Given the description of an element on the screen output the (x, y) to click on. 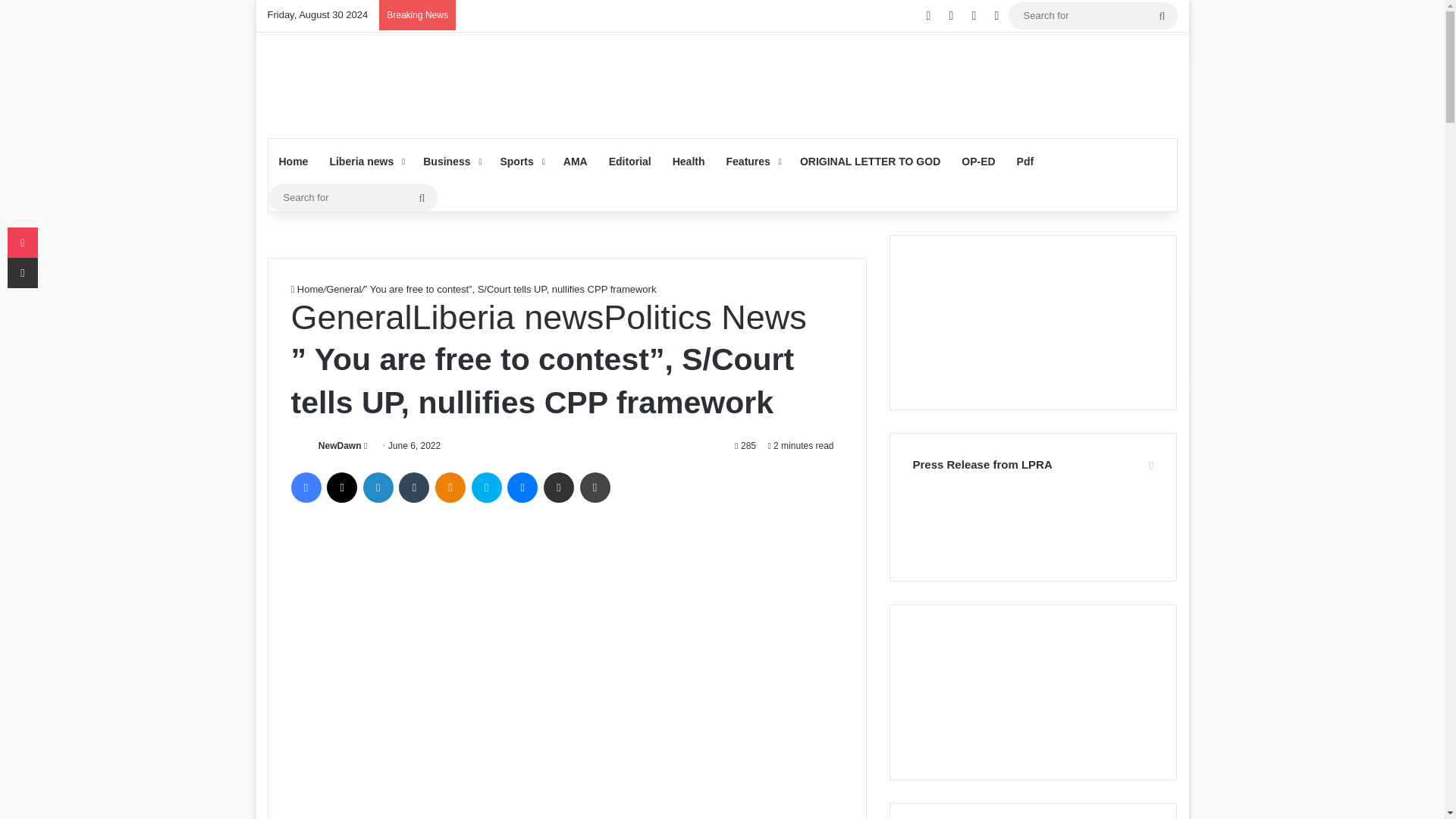
Business (450, 161)
Sports (520, 161)
NewDawn (339, 445)
Home (292, 161)
Liberia news (365, 161)
Messenger (521, 487)
Share via Email (558, 487)
Tumblr (413, 487)
Search for (1161, 15)
Search for (352, 197)
